Given the description of an element on the screen output the (x, y) to click on. 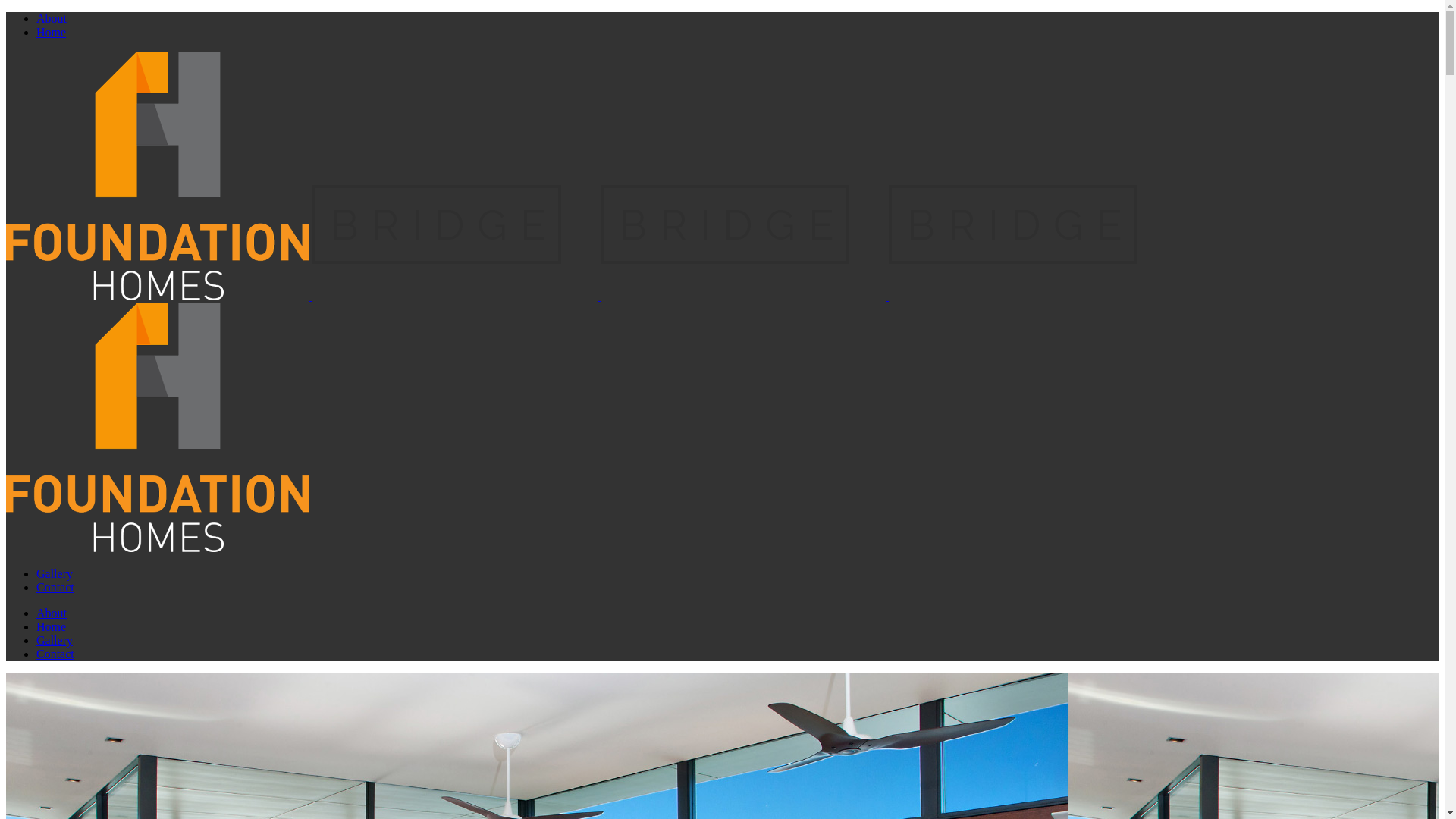
About Element type: text (51, 612)
Contact Element type: text (55, 586)
Contact Element type: text (55, 653)
Home Element type: text (50, 626)
About Element type: text (51, 18)
Gallery Element type: text (54, 573)
Gallery Element type: text (54, 639)
Home Element type: text (50, 31)
